Given the description of an element on the screen output the (x, y) to click on. 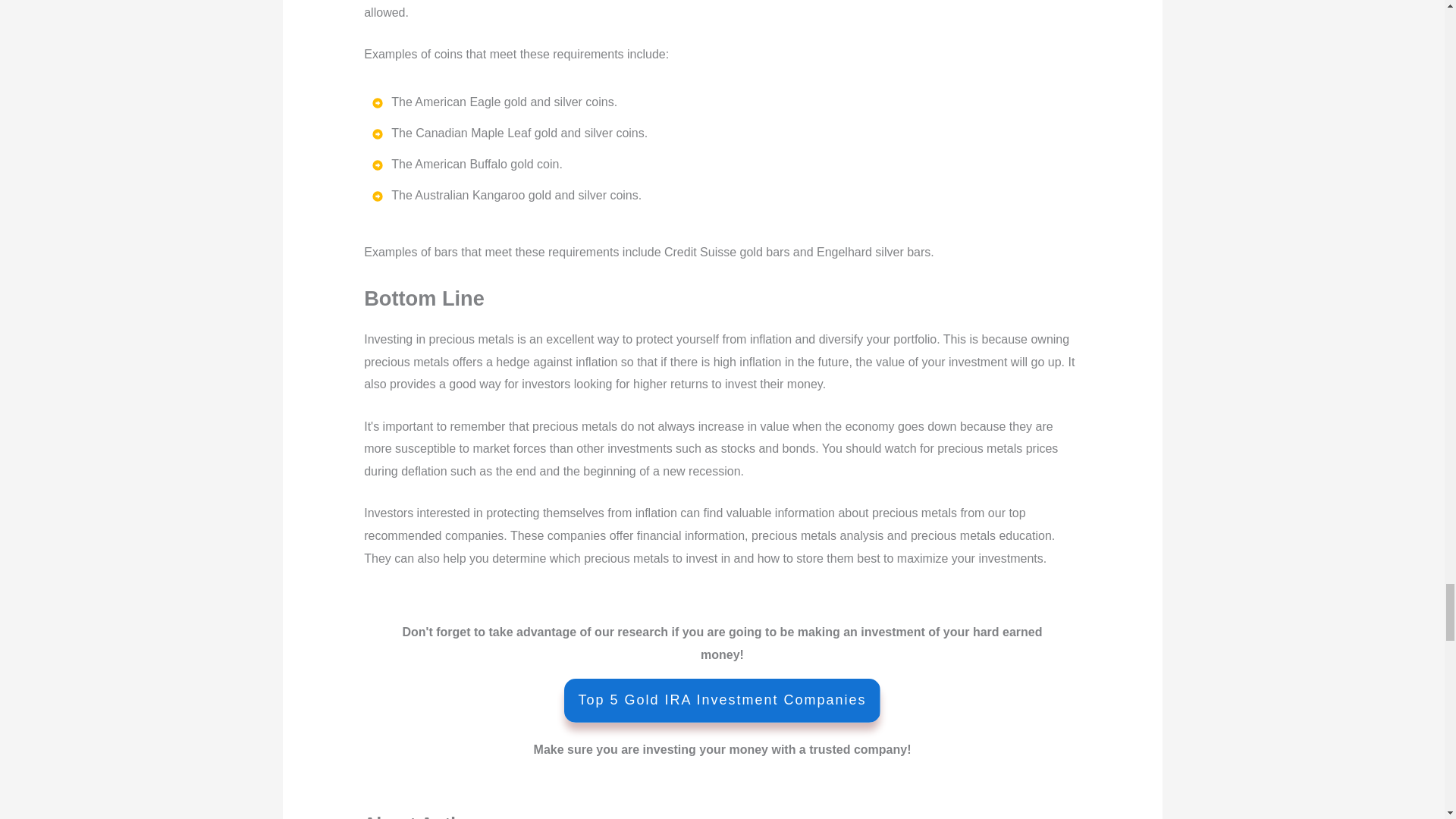
Top 5 Gold IRA Investment Companies (721, 700)
